Given the description of an element on the screen output the (x, y) to click on. 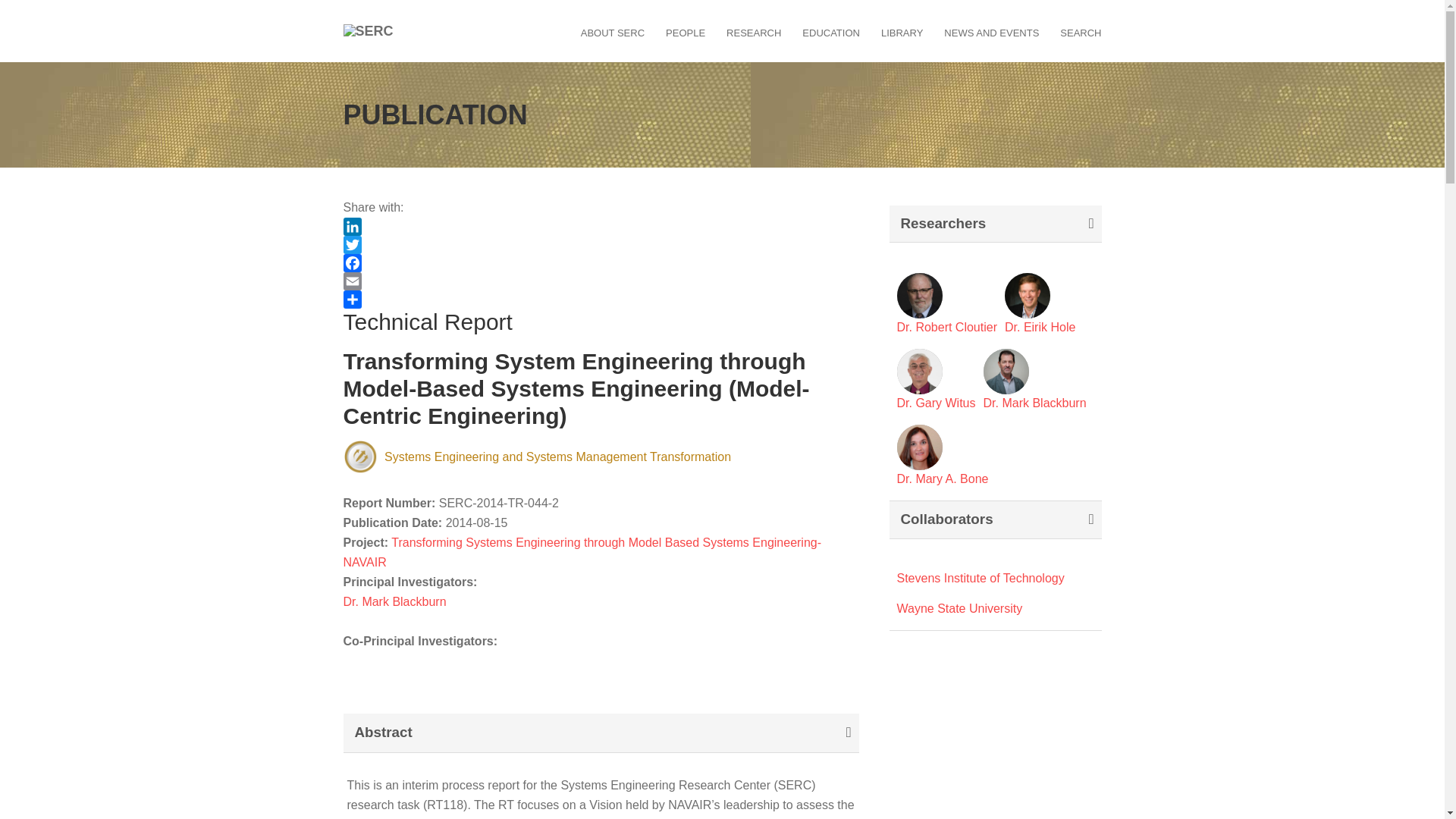
Twitter (600, 244)
EDUCATION (831, 32)
RESEARCH (753, 32)
ABOUT SERC (612, 32)
LinkedIn (600, 226)
PEOPLE (684, 32)
LIBRARY (901, 32)
Email (600, 280)
Facebook (600, 262)
SEARCH (1079, 32)
Twitter (600, 244)
LinkedIn (600, 226)
NEWS AND EVENTS (991, 32)
